Given the description of an element on the screen output the (x, y) to click on. 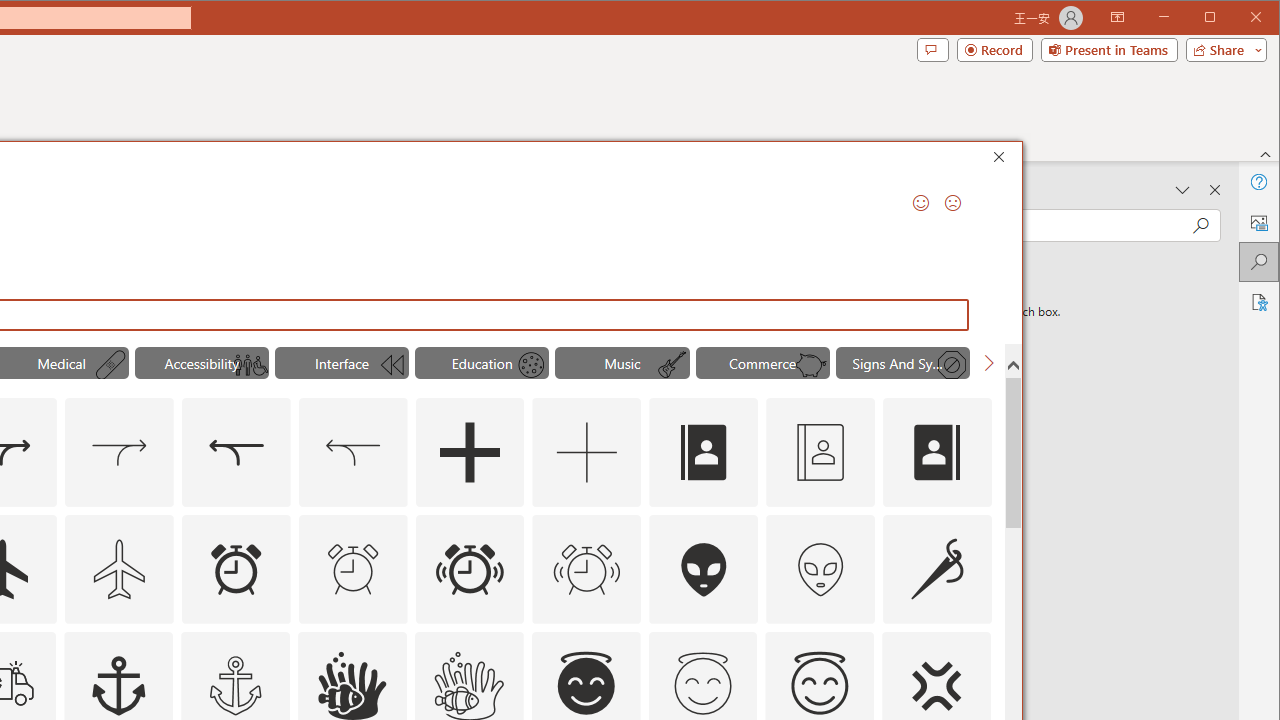
AutomationID: Icons_Acquisition_RTL_M (353, 452)
Accessibility (1258, 301)
Task Pane Options (1183, 189)
AutomationID: _134_Angel_Face_A (586, 683)
"Music" Icons. (622, 362)
"Commerce" Icons. (762, 362)
AutomationID: Icons_Mercury_M (531, 365)
"Accessibility" Icons. (201, 362)
AutomationID: Icons_AlarmClock_M (353, 568)
Search (1258, 261)
